Given the description of an element on the screen output the (x, y) to click on. 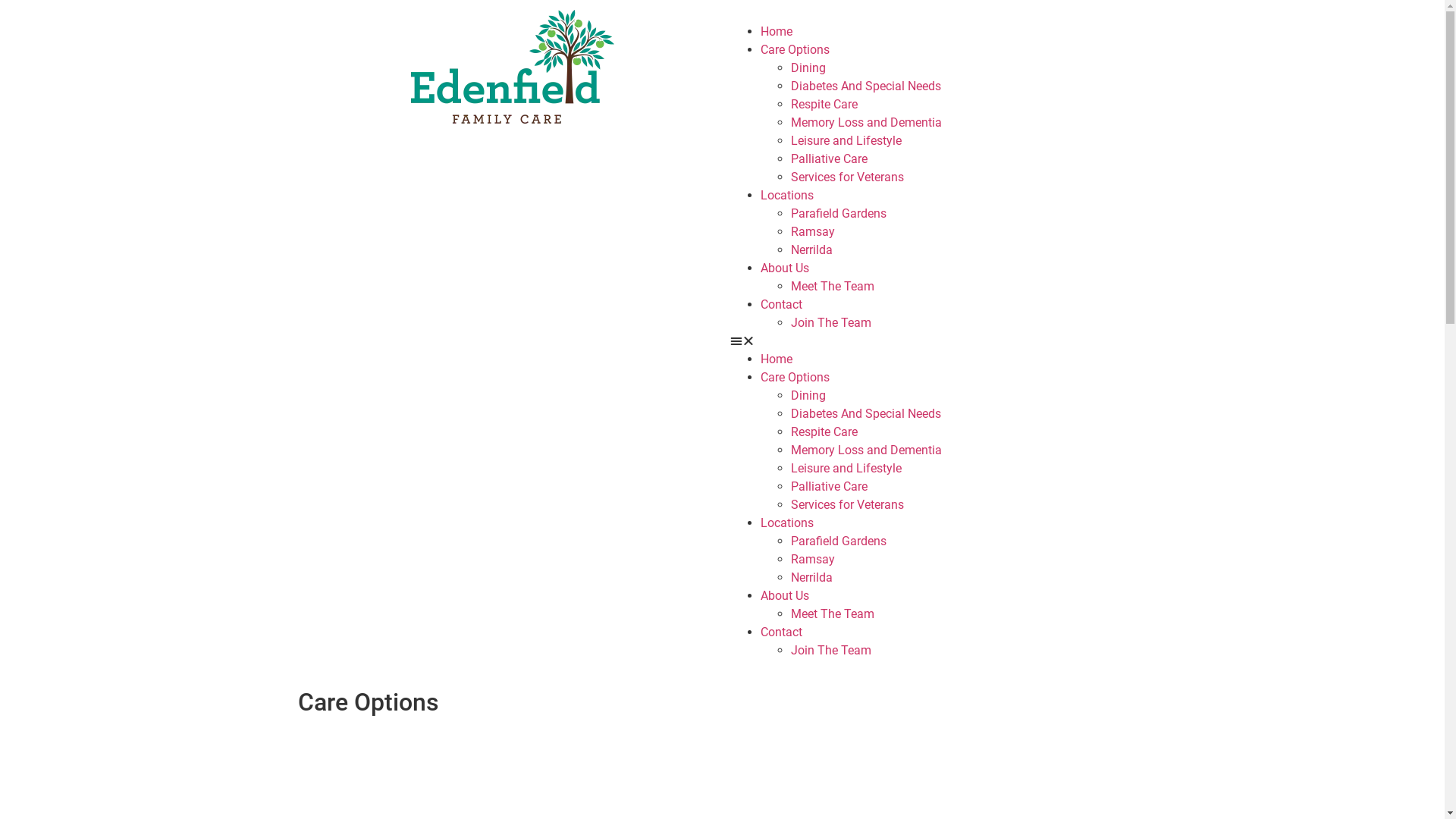
Palliative Care Element type: text (828, 486)
Diabetes And Special Needs Element type: text (865, 413)
Join The Team Element type: text (830, 322)
Ramsay Element type: text (812, 559)
Care Options Element type: text (793, 49)
Respite Care Element type: text (823, 431)
Parafield Gardens Element type: text (837, 540)
Leisure and Lifestyle Element type: text (845, 140)
Join The Team Element type: text (830, 650)
Contact Element type: text (780, 304)
Locations Element type: text (785, 195)
About Us Element type: text (783, 267)
Palliative Care Element type: text (828, 158)
Parafield Gardens Element type: text (837, 213)
Diabetes And Special Needs Element type: text (865, 85)
Home Element type: text (775, 358)
Home Element type: text (775, 31)
Memory Loss and Dementia Element type: text (865, 449)
Meet The Team Element type: text (831, 286)
Dining Element type: text (807, 395)
Leisure and Lifestyle Element type: text (845, 468)
Services for Veterans Element type: text (846, 504)
Ramsay Element type: text (812, 231)
Dining Element type: text (807, 67)
About Us Element type: text (783, 595)
Contact Element type: text (780, 631)
Memory Loss and Dementia Element type: text (865, 122)
Respite Care Element type: text (823, 104)
Nerrilda Element type: text (810, 577)
Meet The Team Element type: text (831, 613)
Services for Veterans Element type: text (846, 176)
Locations Element type: text (785, 522)
Care Options Element type: text (793, 377)
Nerrilda Element type: text (810, 249)
